Given the description of an element on the screen output the (x, y) to click on. 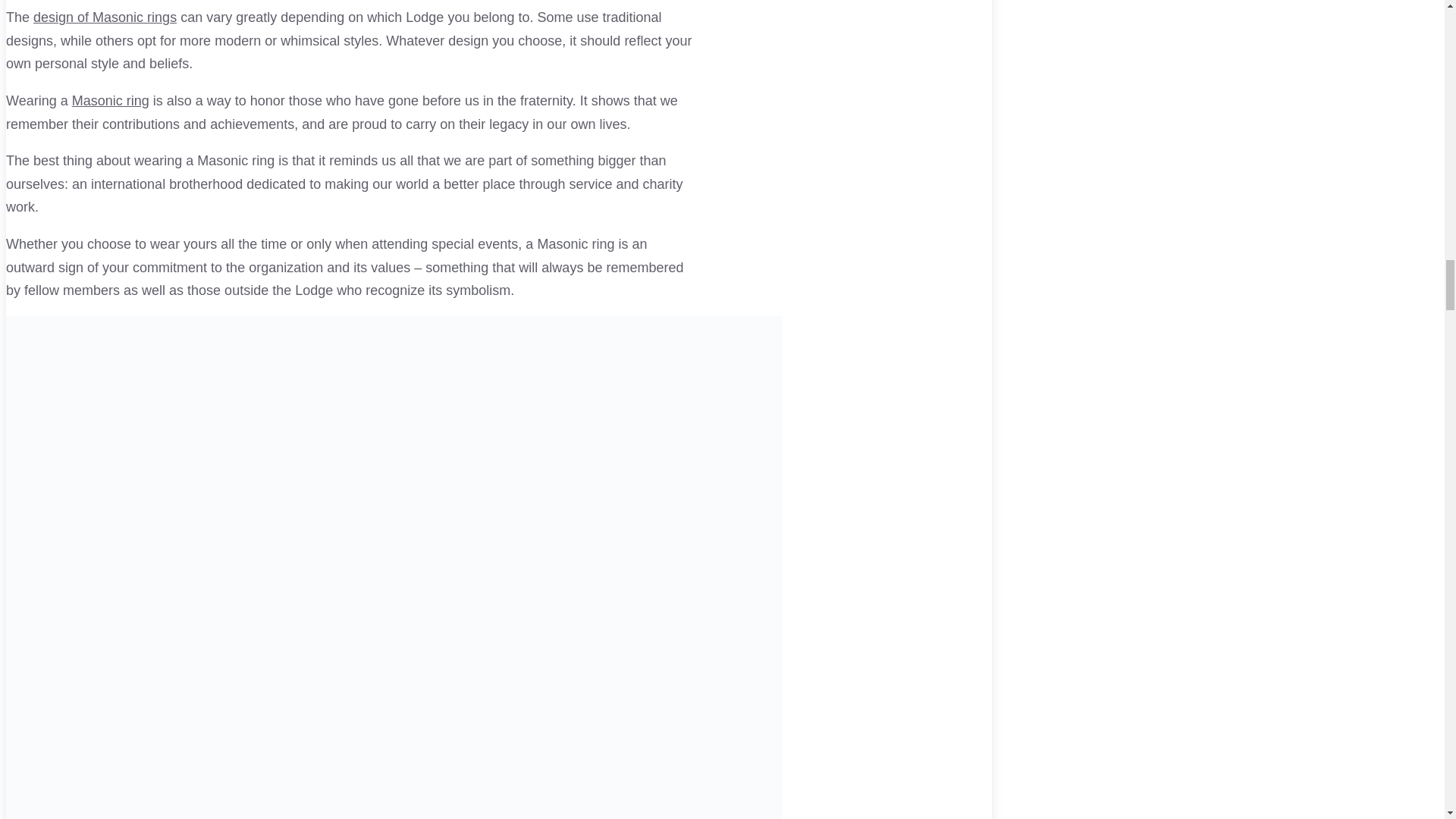
Free Mason Ring Gold (110, 100)
Masonic Ring Designs (104, 17)
